Given the description of an element on the screen output the (x, y) to click on. 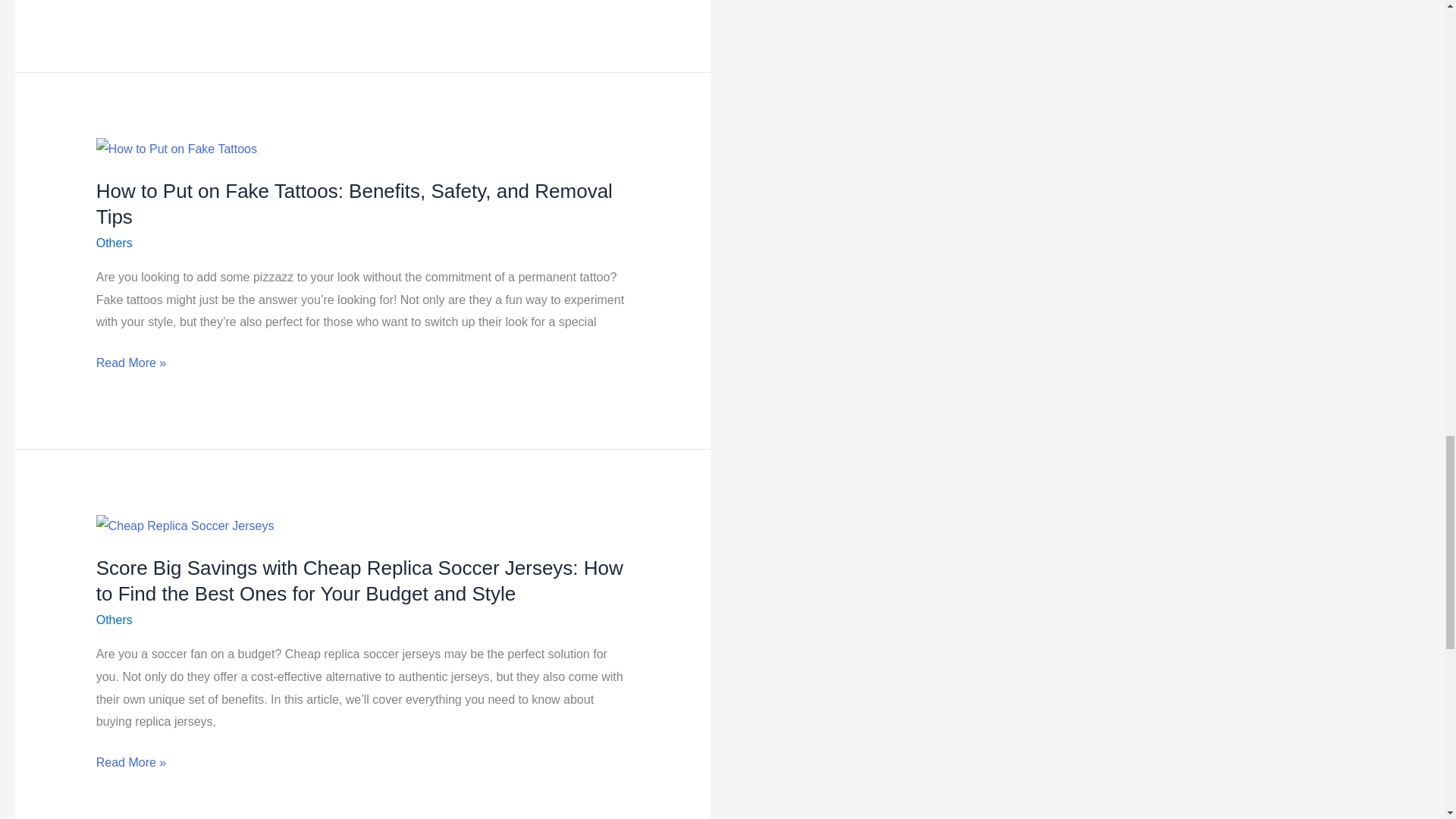
Others (114, 242)
Others (114, 619)
